Given the description of an element on the screen output the (x, y) to click on. 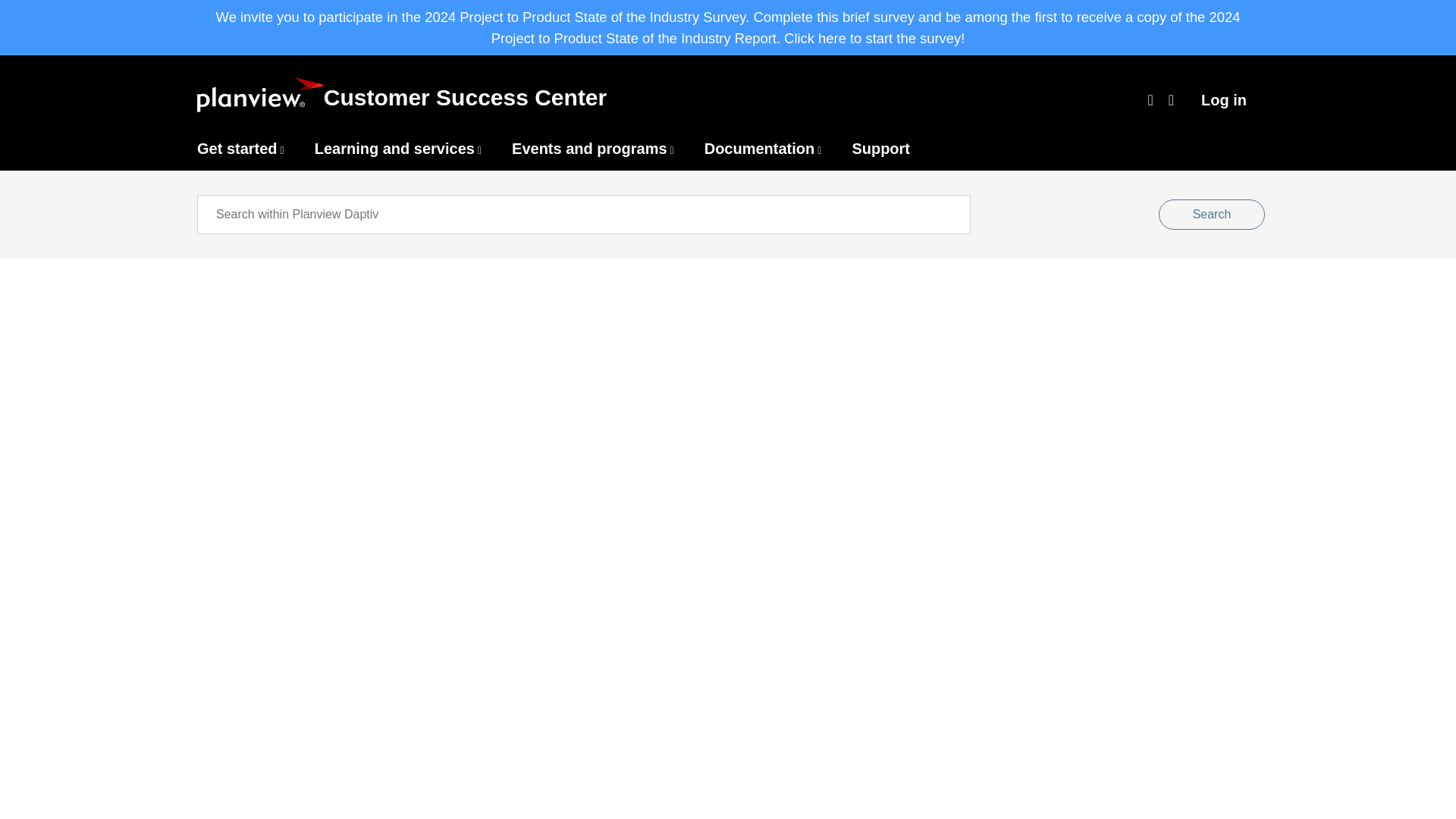
Documentation (759, 148)
Log in (1224, 99)
Click to sign into the site (1224, 99)
Events and programs (589, 148)
Learning and services (394, 148)
Get started (237, 148)
